Given the description of an element on the screen output the (x, y) to click on. 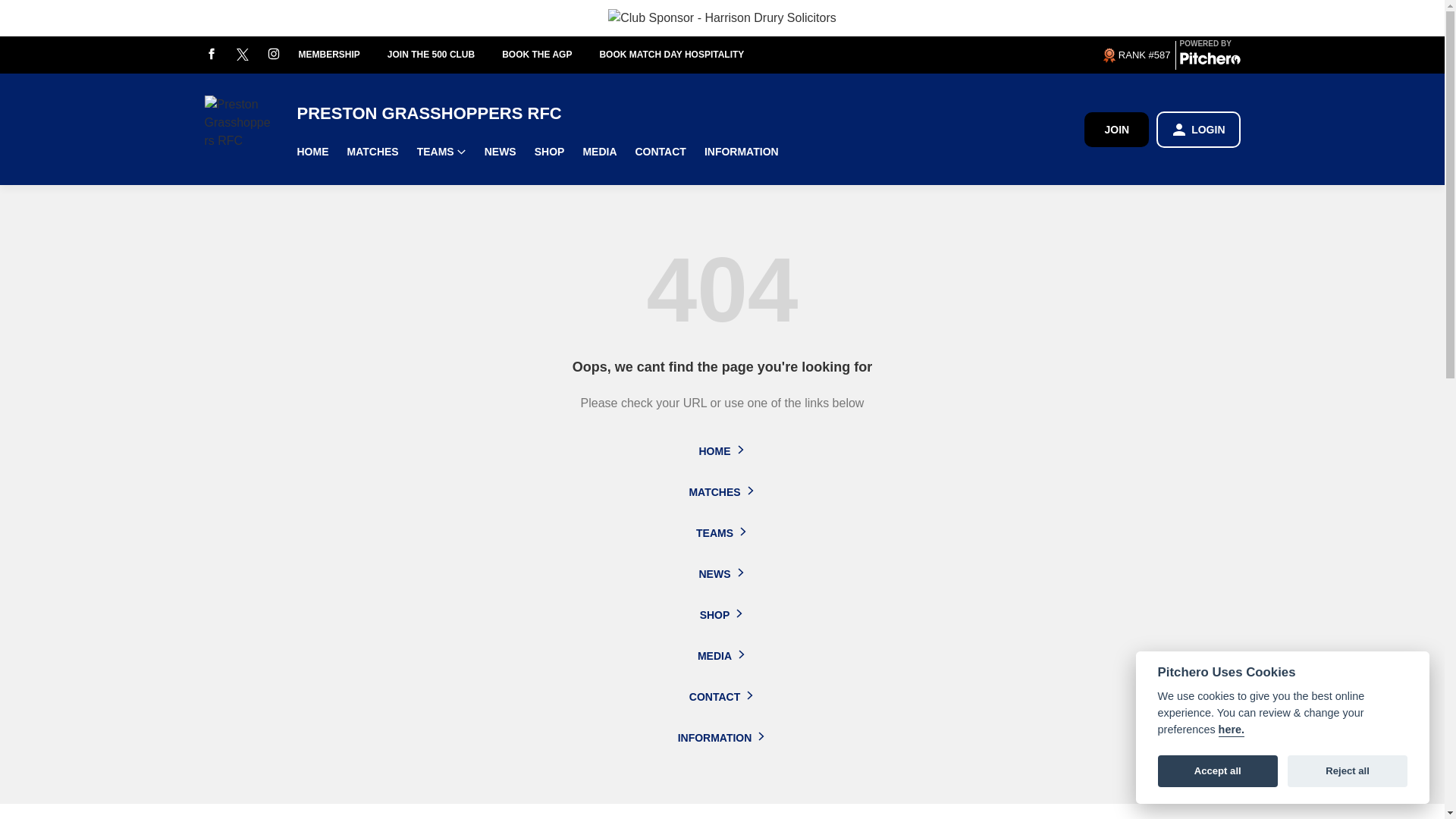
SHOP (549, 152)
LOGIN (1198, 129)
Pitchero (1209, 61)
HOME (312, 152)
NEWS (500, 152)
MEDIA (599, 152)
BOOK THE AGP (550, 54)
PRESTON GRASSHOPPERS RFC (690, 113)
JOIN (1116, 129)
CONTACT (660, 152)
